Given the description of an element on the screen output the (x, y) to click on. 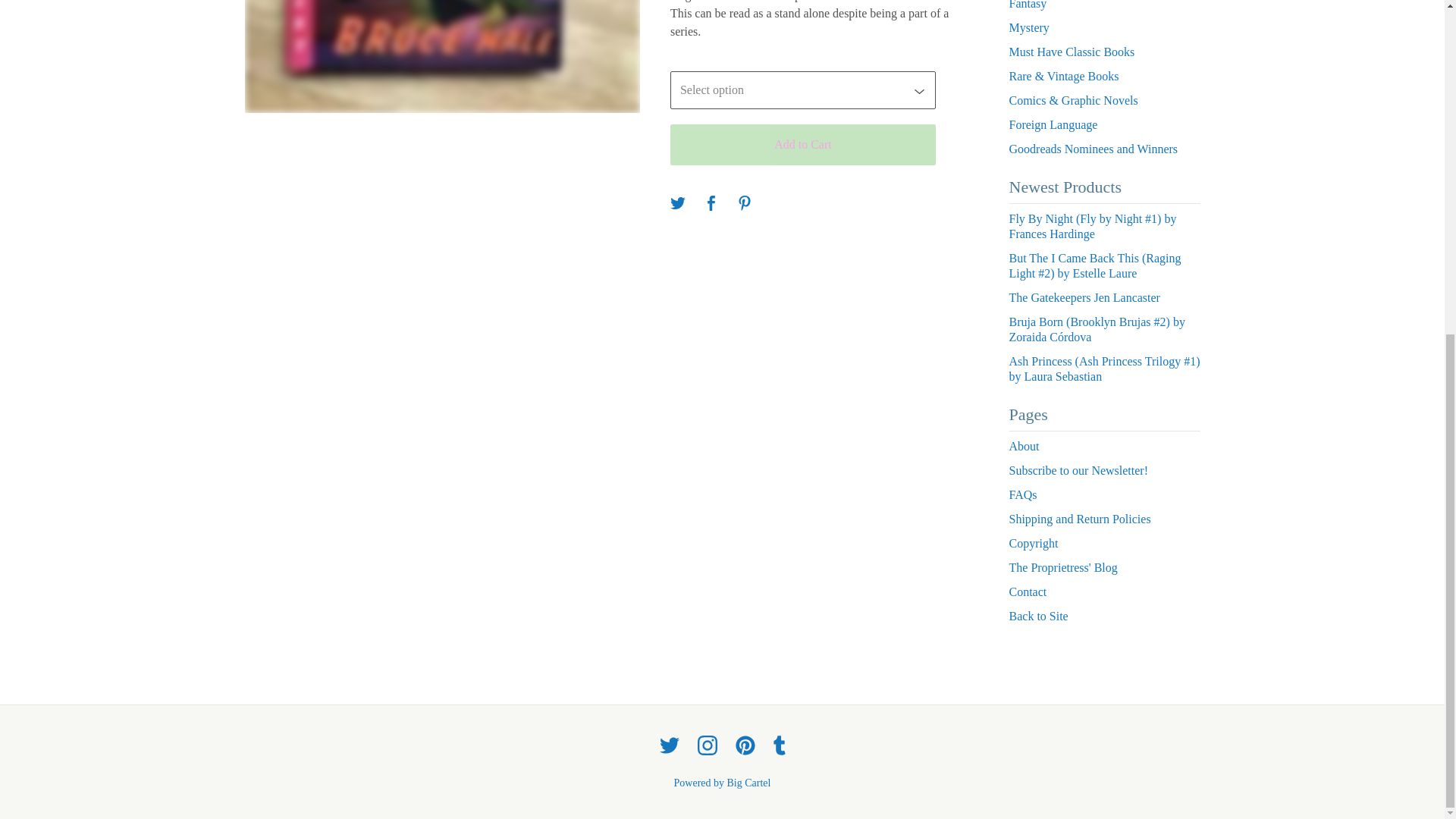
Pin (744, 203)
Mystery (1104, 27)
Goodreads Nominees and Winners (1104, 149)
View Mystery (1104, 27)
About (1104, 446)
Tweet (677, 203)
Fantasy (1104, 7)
Shipping and Return Policies (1104, 518)
Share on Facebook (711, 203)
Add to Cart (802, 144)
Copyright (1104, 543)
The Proprietress' Blog (1104, 567)
The Gatekeepers Jen Lancaster (1104, 297)
Foreign Language (1104, 125)
Must Have Classic Books (1104, 52)
